Given the description of an element on the screen output the (x, y) to click on. 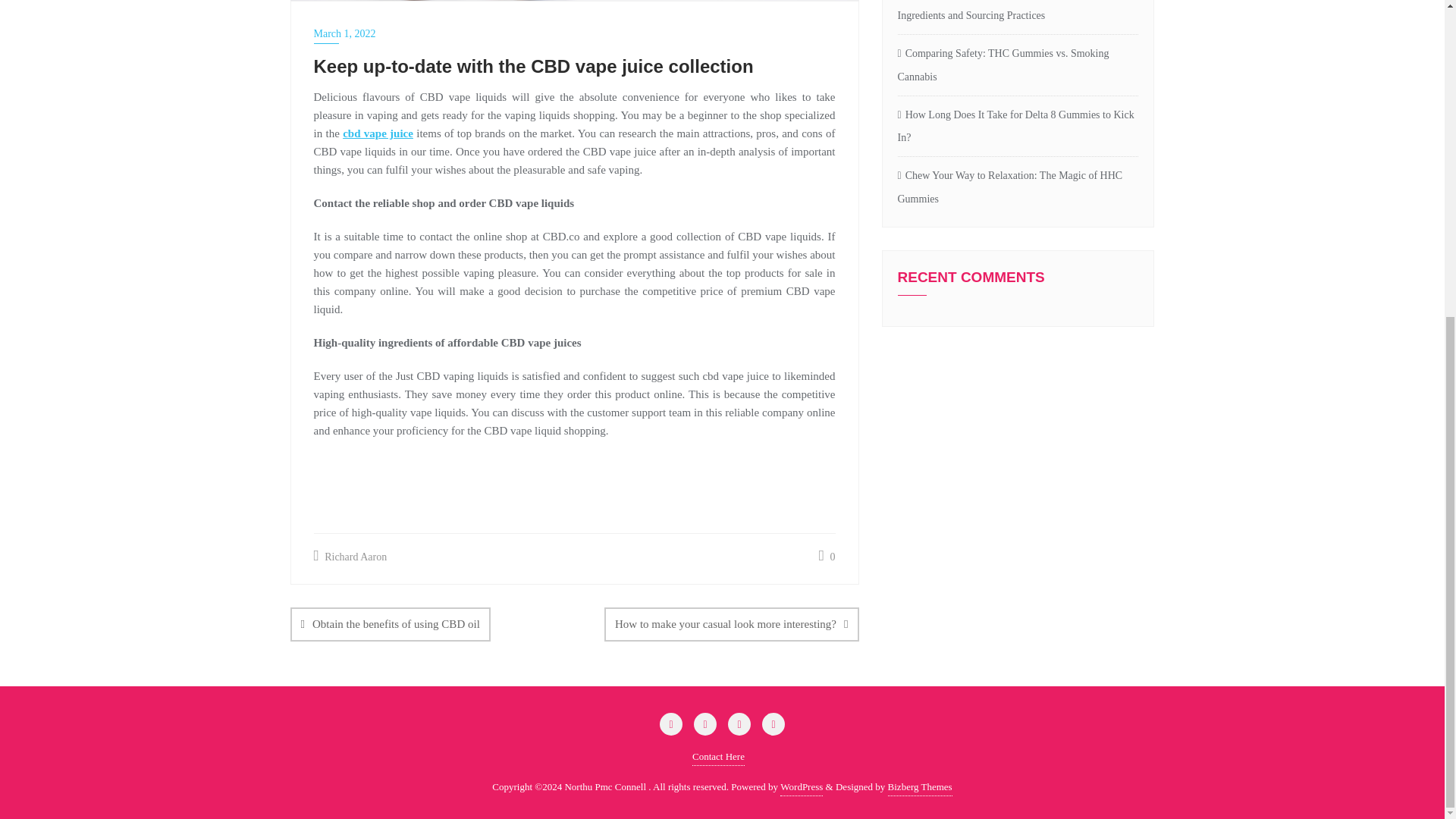
cbd vape juice (377, 133)
How to make your casual look more interesting? (731, 624)
Comparing Safety: THC Gummies vs. Smoking Cannabis (1018, 65)
How Long Does It Take for Delta 8 Gummies to Kick In? (1018, 127)
Bizberg Themes (920, 787)
Richard Aaron (350, 556)
WordPress (801, 787)
Contact Here (718, 756)
Obtain the benefits of using CBD oil (389, 624)
Chew Your Way to Relaxation: The Magic of HHC Gummies (1018, 187)
March 1, 2022 (574, 33)
